Given the description of an element on the screen output the (x, y) to click on. 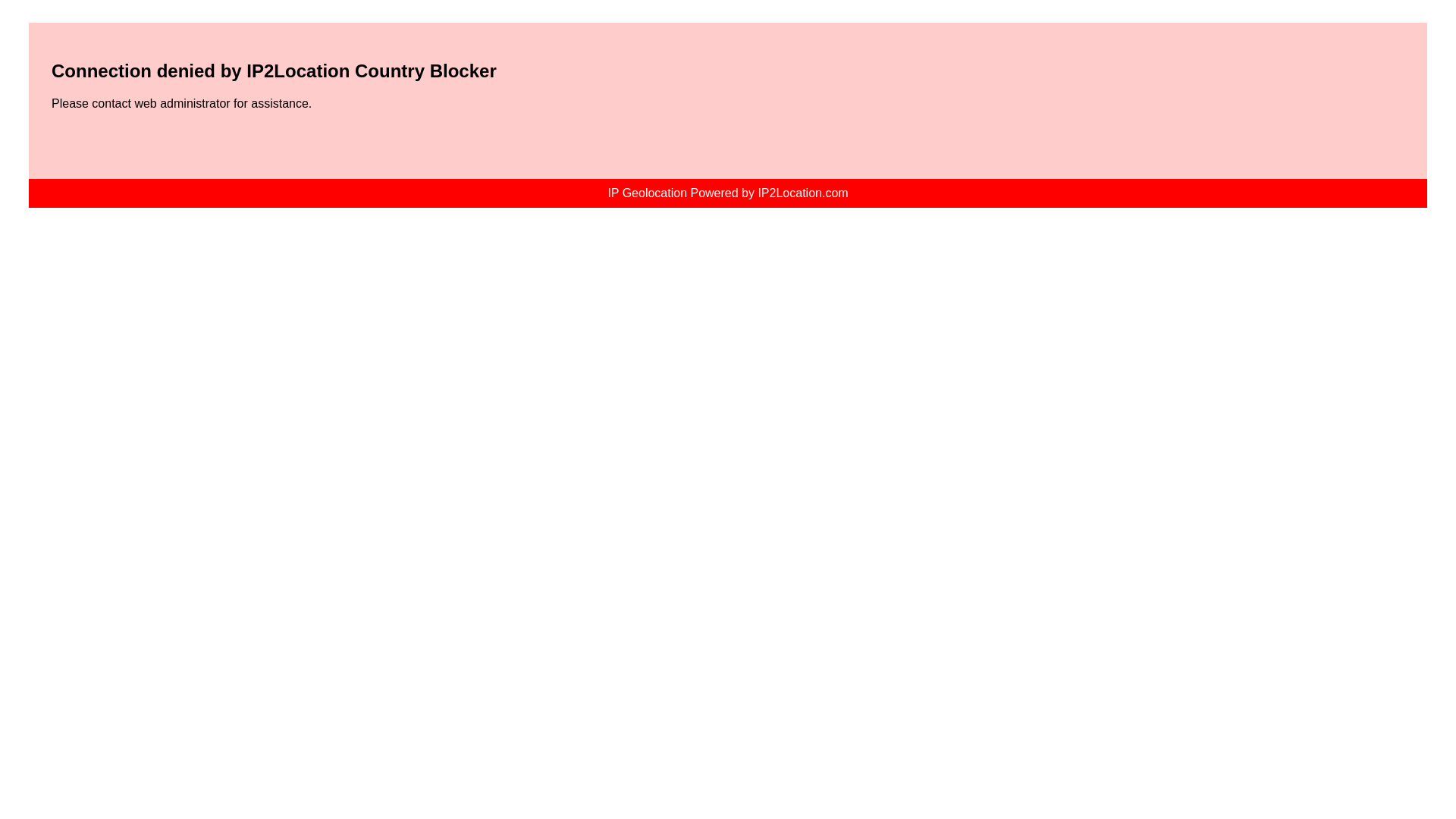
IP Geolocation Powered by IP2Location.com (727, 192)
